Given the description of an element on the screen output the (x, y) to click on. 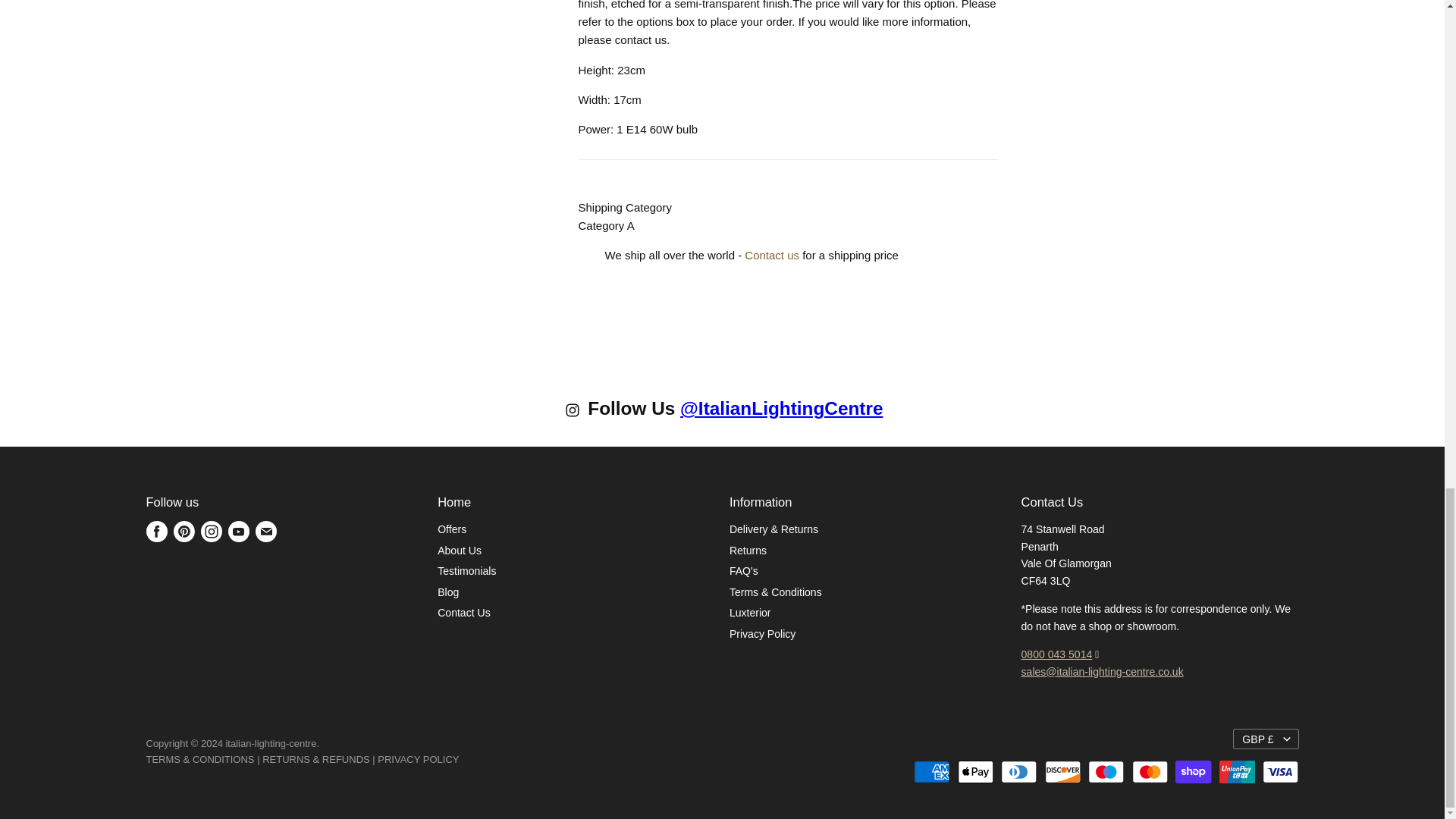
Instagram (575, 414)
Facebook (156, 531)
Pinterest (183, 531)
Instagram (210, 531)
E-mail (265, 531)
Youtube (237, 531)
